Given the description of an element on the screen output the (x, y) to click on. 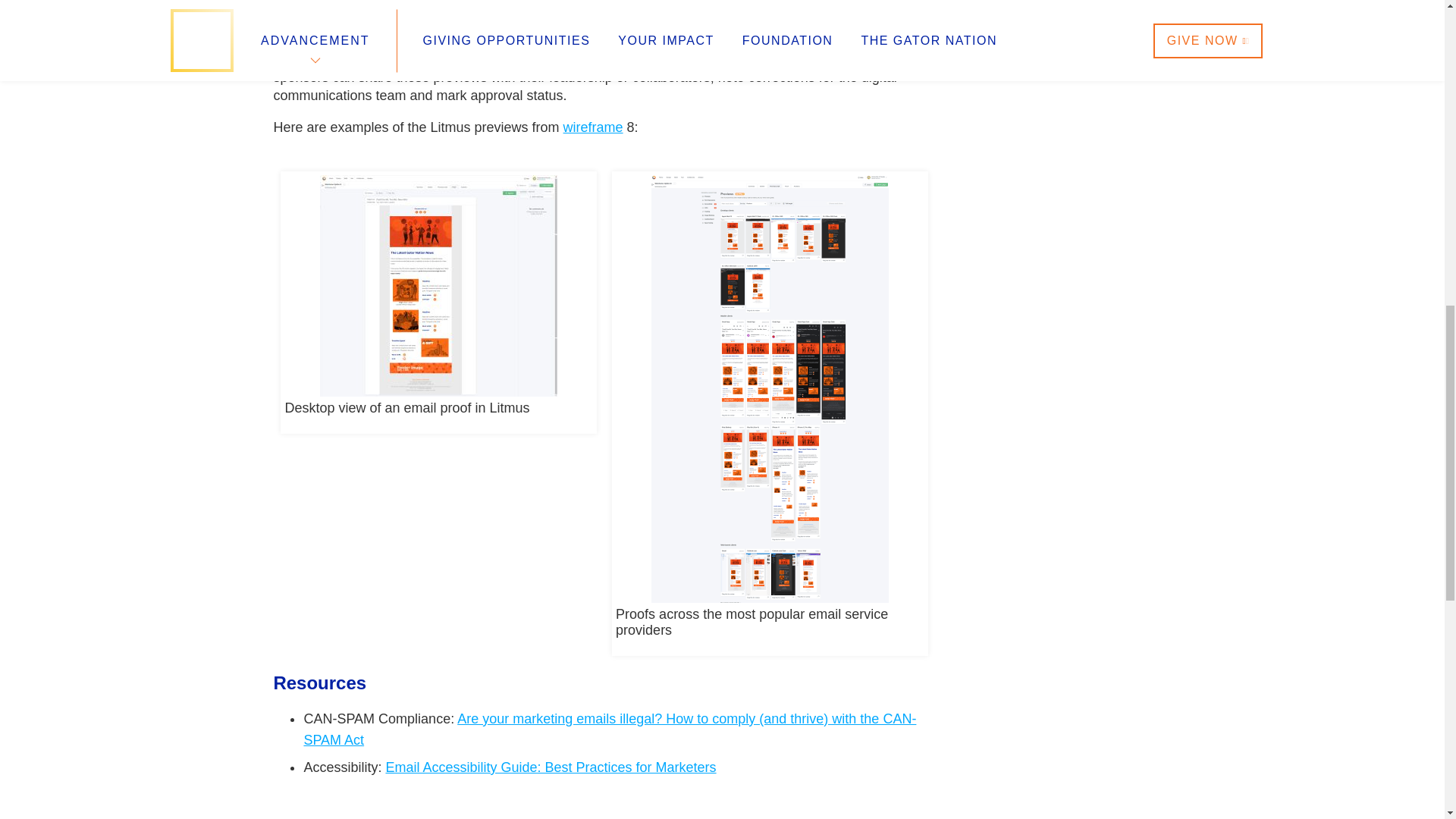
Email Accessibility Guide: Best Practices for Marketers (550, 767)
wireframe (593, 127)
